Given the description of an element on the screen output the (x, y) to click on. 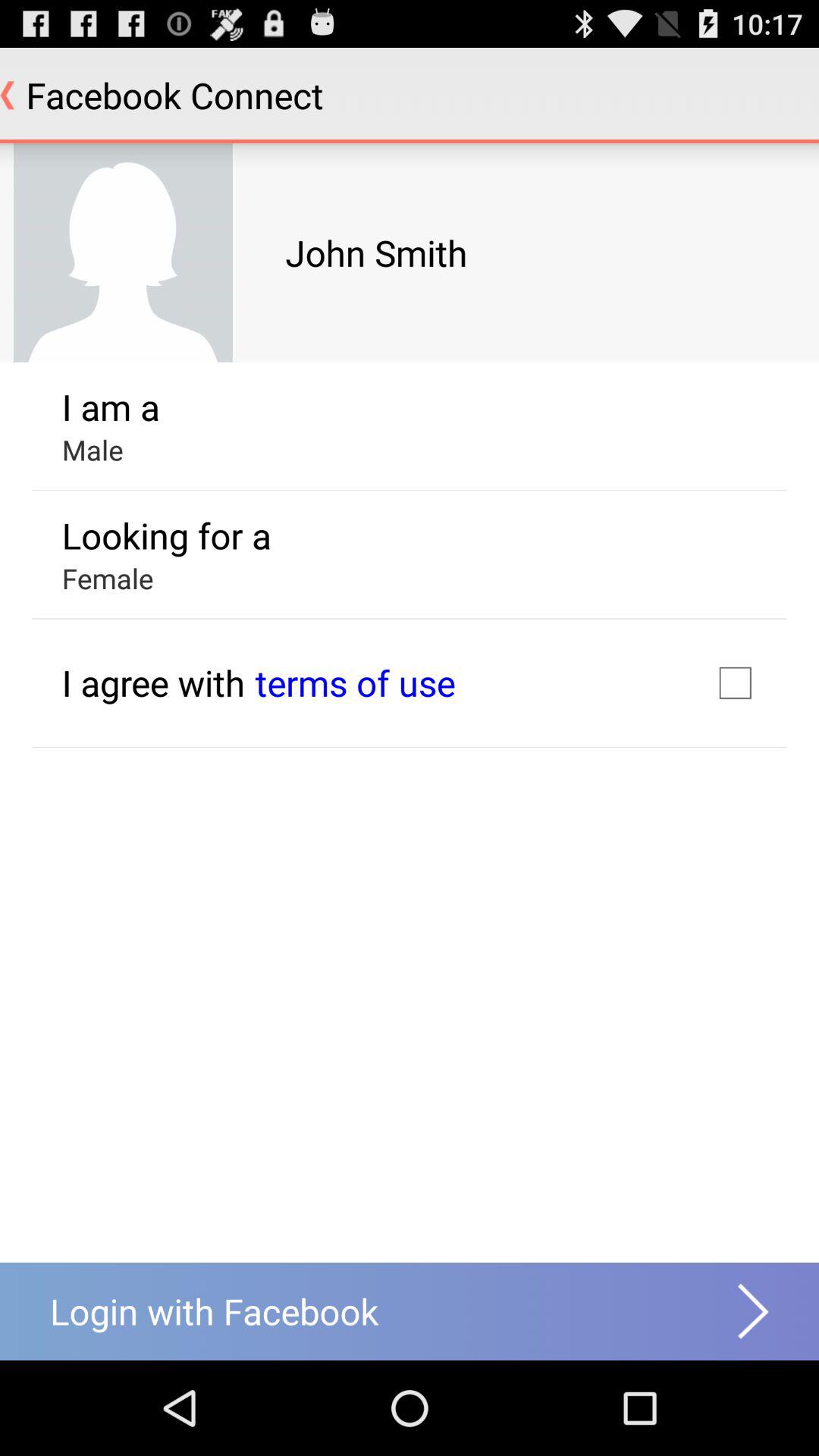
open item to the right of terms of use icon (735, 682)
